Given the description of an element on the screen output the (x, y) to click on. 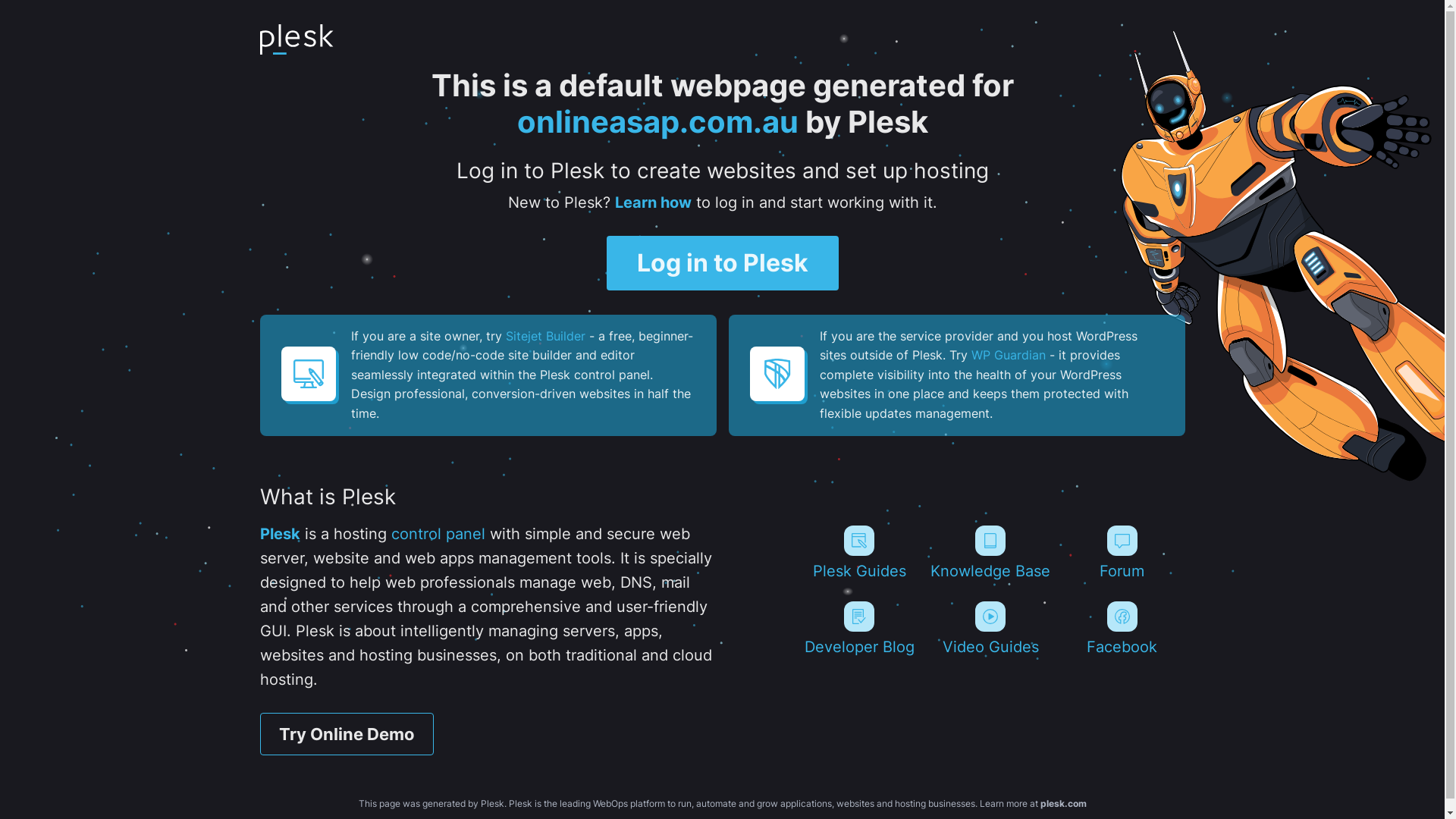
Log in to Plesk Element type: text (722, 262)
WP Guardian Element type: text (1007, 354)
Facebook Element type: text (1121, 628)
Developer Blog Element type: text (858, 628)
Knowledge Base Element type: text (990, 552)
Plesk Element type: text (279, 533)
Try Online Demo Element type: text (346, 733)
Plesk Guides Element type: text (858, 552)
Video Guides Element type: text (990, 628)
Sitejet Builder Element type: text (544, 335)
control panel Element type: text (438, 533)
onlineasap.com.au Element type: text (657, 121)
Learn how Element type: text (652, 202)
Forum Element type: text (1121, 552)
plesk.com Element type: text (1063, 803)
